Given the description of an element on the screen output the (x, y) to click on. 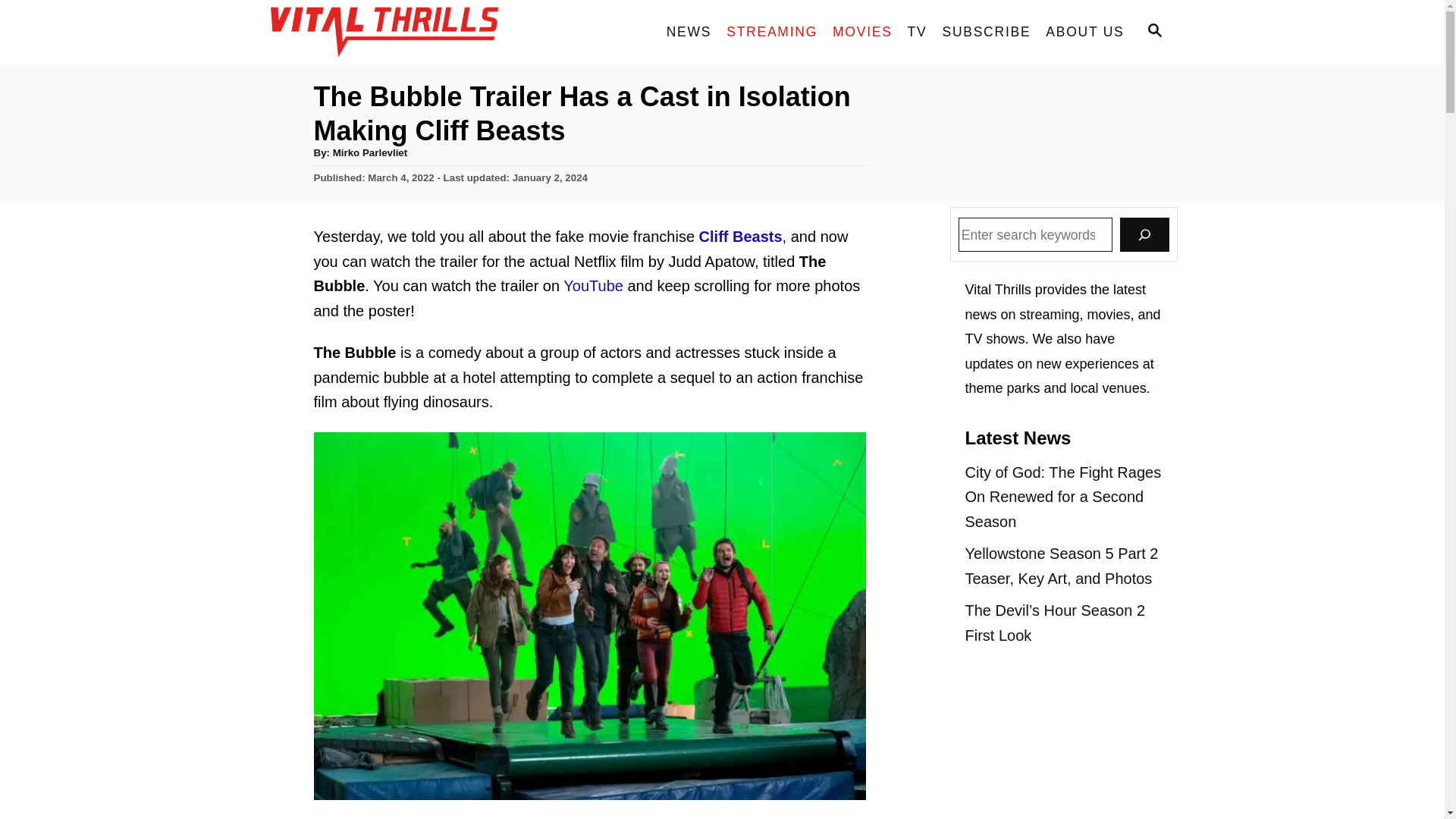
Vital Thrills (403, 32)
ABOUT US (1084, 32)
SUBSCRIBE (986, 32)
MOVIES (862, 32)
YouTube (593, 285)
NEWS (689, 32)
Cliff Beasts (740, 236)
SEARCH (1153, 31)
Mirko Parlevliet (370, 152)
TV (916, 32)
